Given the description of an element on the screen output the (x, y) to click on. 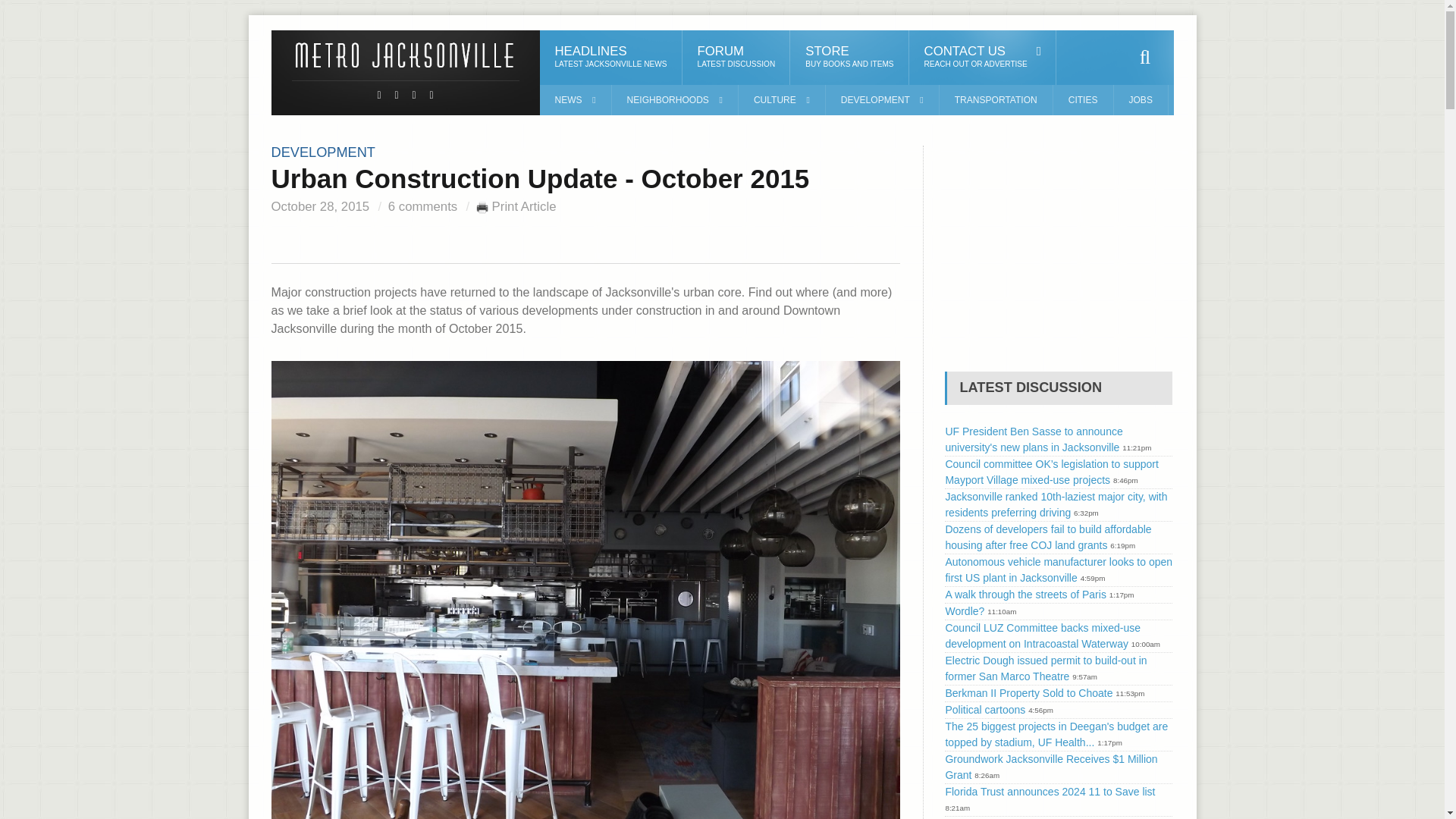
6 comments (422, 206)
TRANSPORTATION (995, 100)
DEVELOPMENT (322, 151)
CULTURE (781, 100)
NEIGHBORHOODS (674, 100)
CITIES (1082, 100)
